Given the description of an element on the screen output the (x, y) to click on. 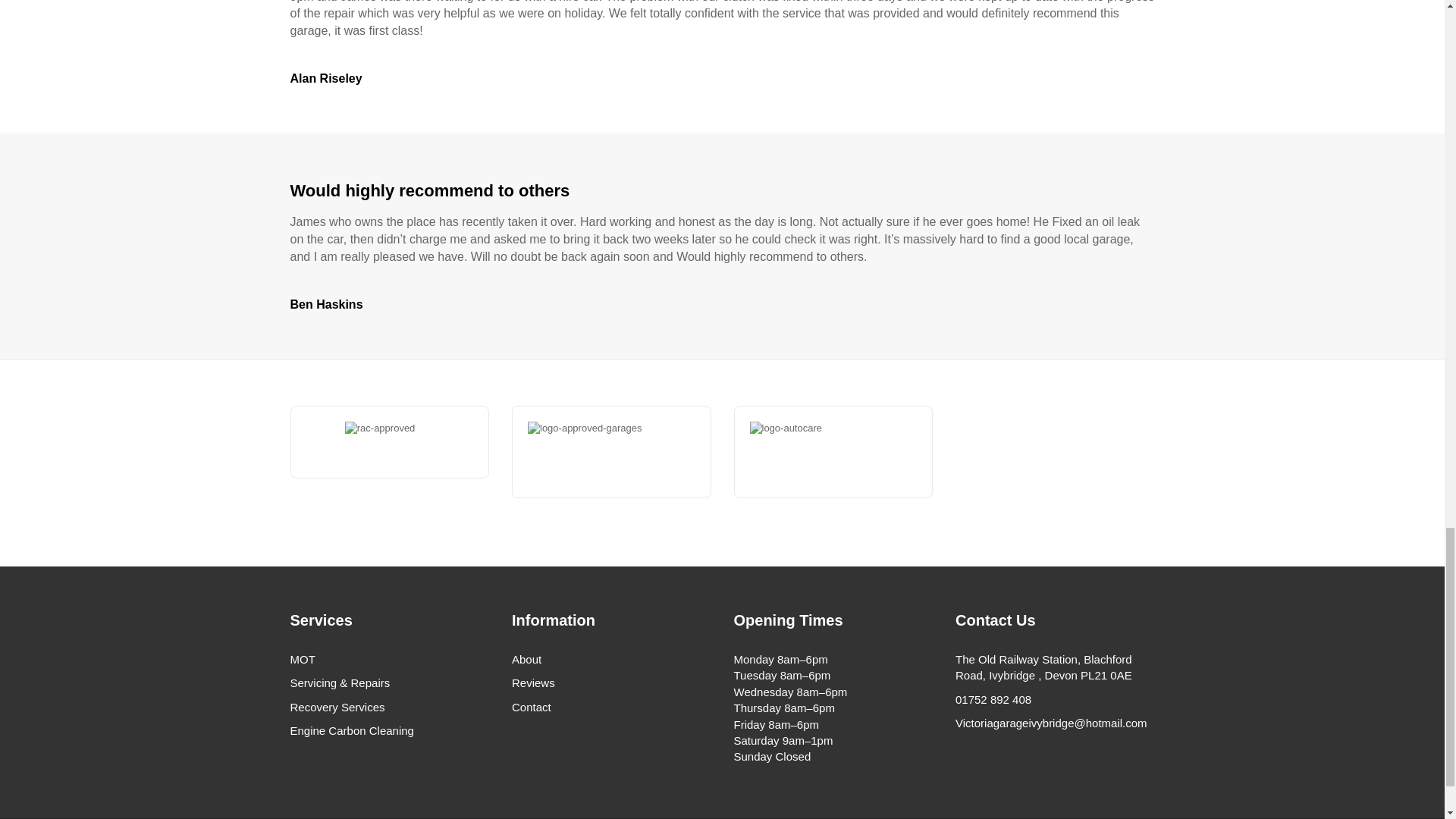
Contact (611, 706)
logo-autocare (854, 451)
MOT (389, 659)
About (611, 659)
logo-approved-garages (632, 451)
Reviews (611, 682)
Engine Carbon Cleaning (389, 730)
Recovery Services (389, 706)
rac-approved (389, 441)
